Given the description of an element on the screen output the (x, y) to click on. 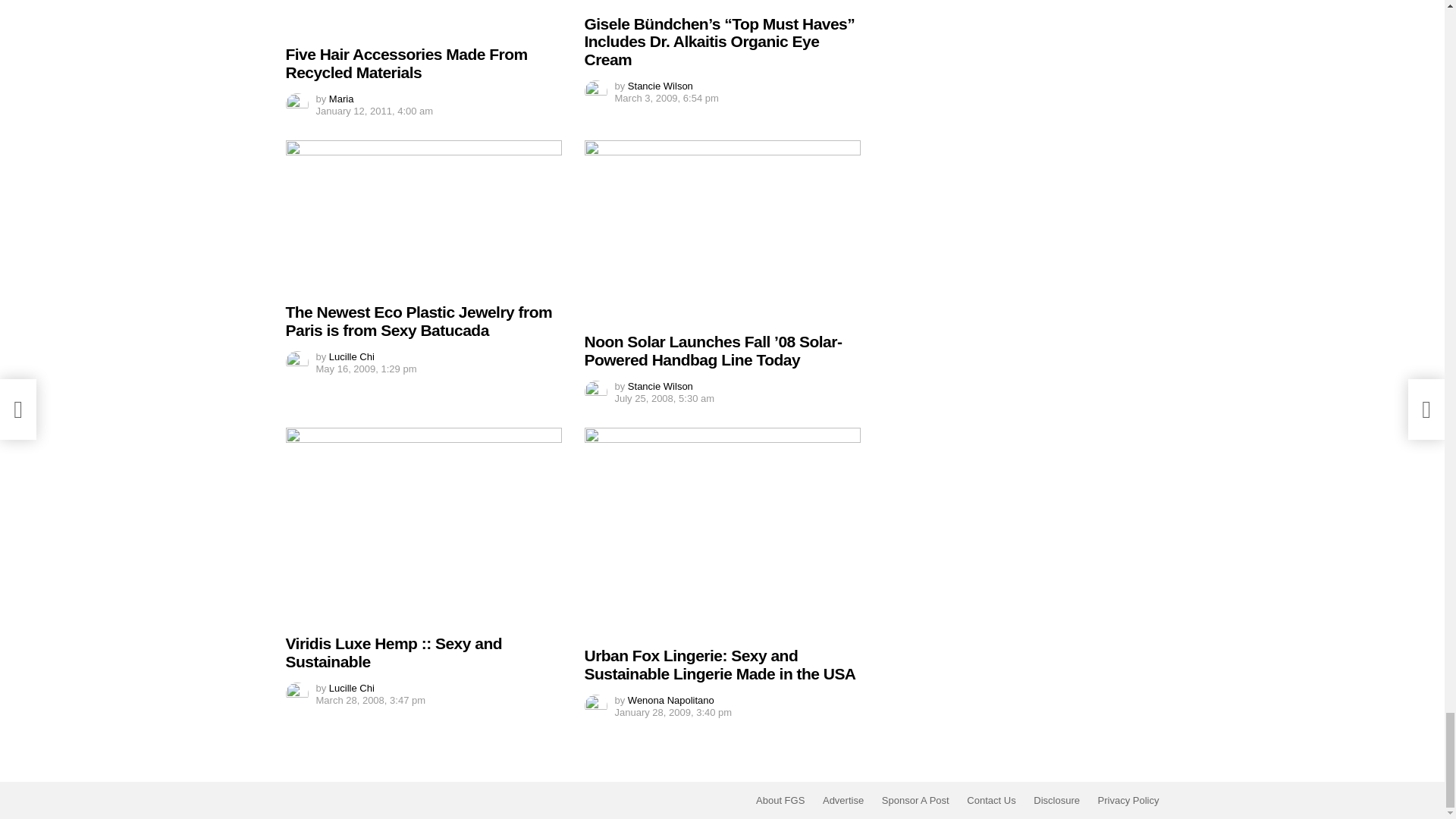
Posts by Stancie Wilson (660, 85)
Posts by Wenona Napolitano (670, 699)
Posts by Lucille Chi (351, 356)
Posts by Maria (341, 98)
Posts by Lucille Chi (351, 687)
Posts by Stancie Wilson (660, 386)
